Given the description of an element on the screen output the (x, y) to click on. 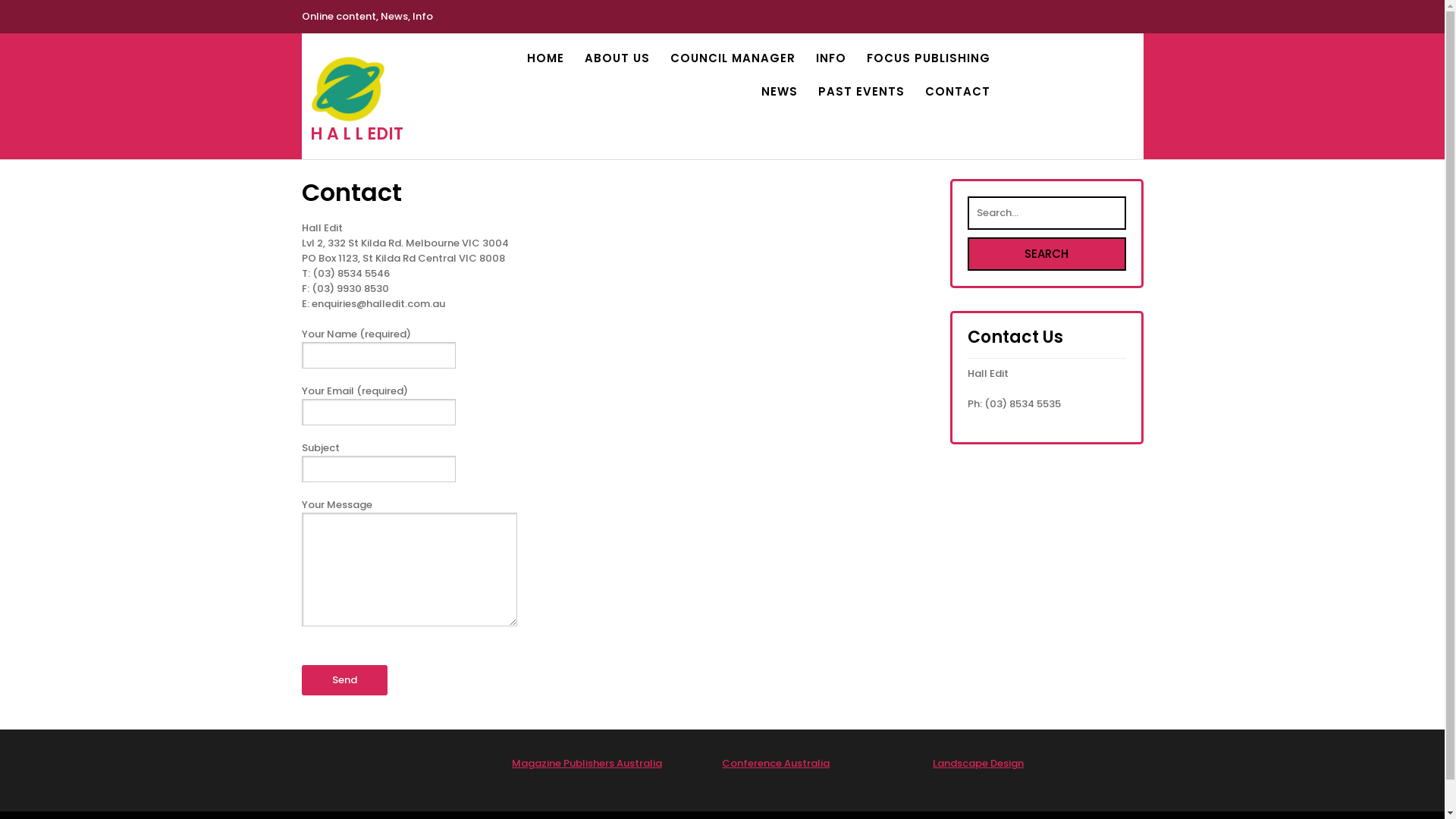
INFO Element type: text (830, 58)
Conference Australia Element type: text (775, 763)
COUNCIL MANAGER Element type: text (732, 58)
H A L L EDIT Element type: text (355, 133)
Search Element type: text (1046, 253)
Send Element type: text (344, 680)
PAST EVENTS Element type: text (860, 91)
Landscape Design Element type: text (977, 763)
Magazine Publishers Australia Element type: text (586, 763)
ABOUT US Element type: text (616, 58)
CONTACT Element type: text (957, 91)
NEWS Element type: text (779, 91)
FOCUS PUBLISHING Element type: text (927, 58)
HOME Element type: text (544, 58)
